Given the description of an element on the screen output the (x, y) to click on. 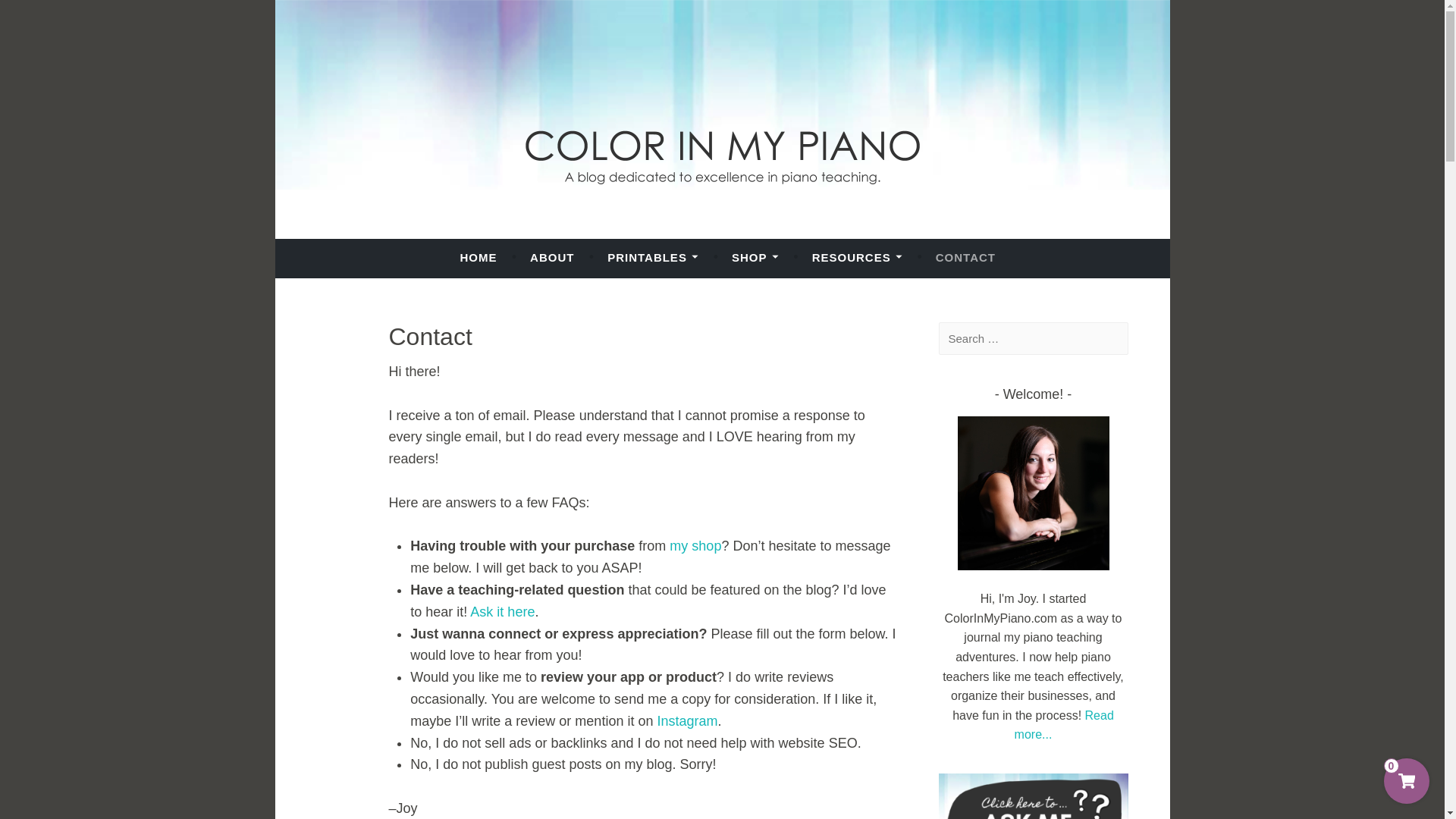
my shop (694, 545)
Color In My Piano (409, 250)
HOME (478, 257)
Search (37, 15)
ABOUT (551, 257)
Instagram (686, 720)
CONTACT (965, 257)
Ask it here (502, 611)
SHOP (755, 257)
PRINTABLES (652, 257)
RESOURCES (857, 257)
Read more... (1063, 725)
